Given the description of an element on the screen output the (x, y) to click on. 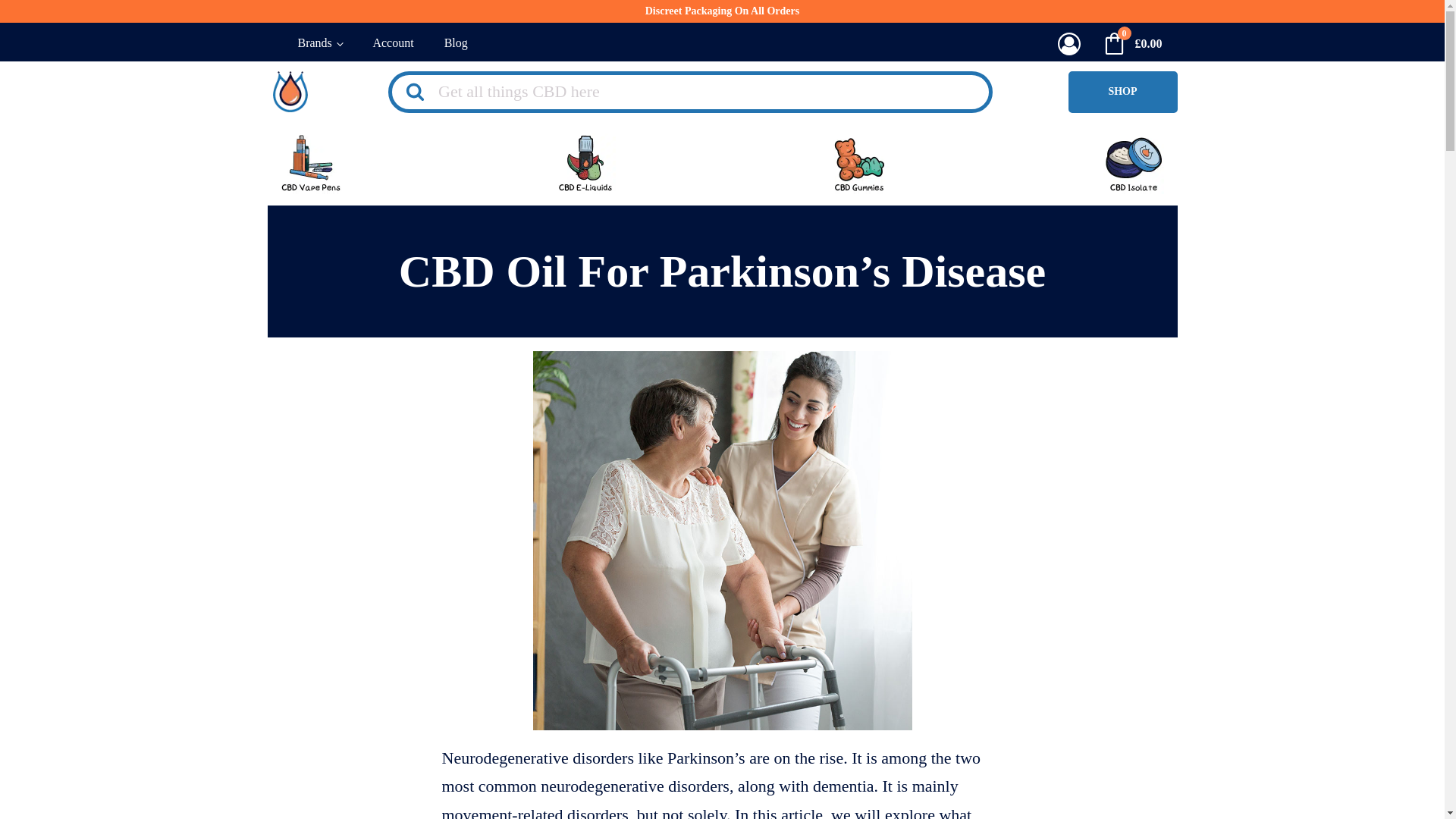
Account (392, 43)
SHOP (1121, 92)
Brands (319, 43)
Search (40, 18)
Blog (456, 43)
